Given the description of an element on the screen output the (x, y) to click on. 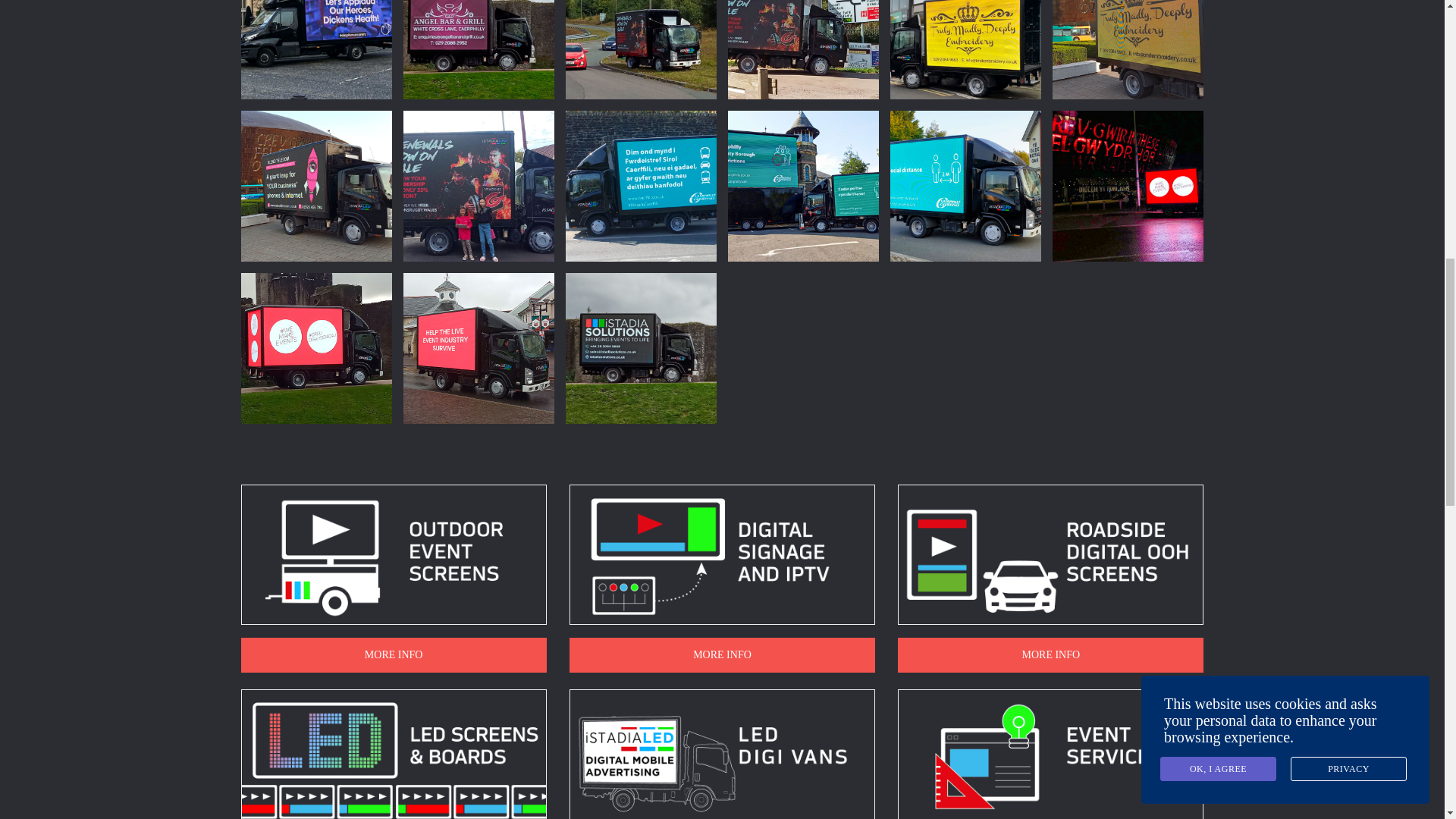
10 (316, 185)
13 (803, 49)
14 (641, 49)
09 (478, 185)
05 (1128, 185)
03 (478, 348)
08 (641, 185)
07 (803, 185)
15 (478, 49)
MORE INFO (394, 655)
04 (316, 348)
MORE INFO (722, 655)
06 (965, 185)
MORE INFO (1051, 655)
02 (316, 49)
